Given the description of an element on the screen output the (x, y) to click on. 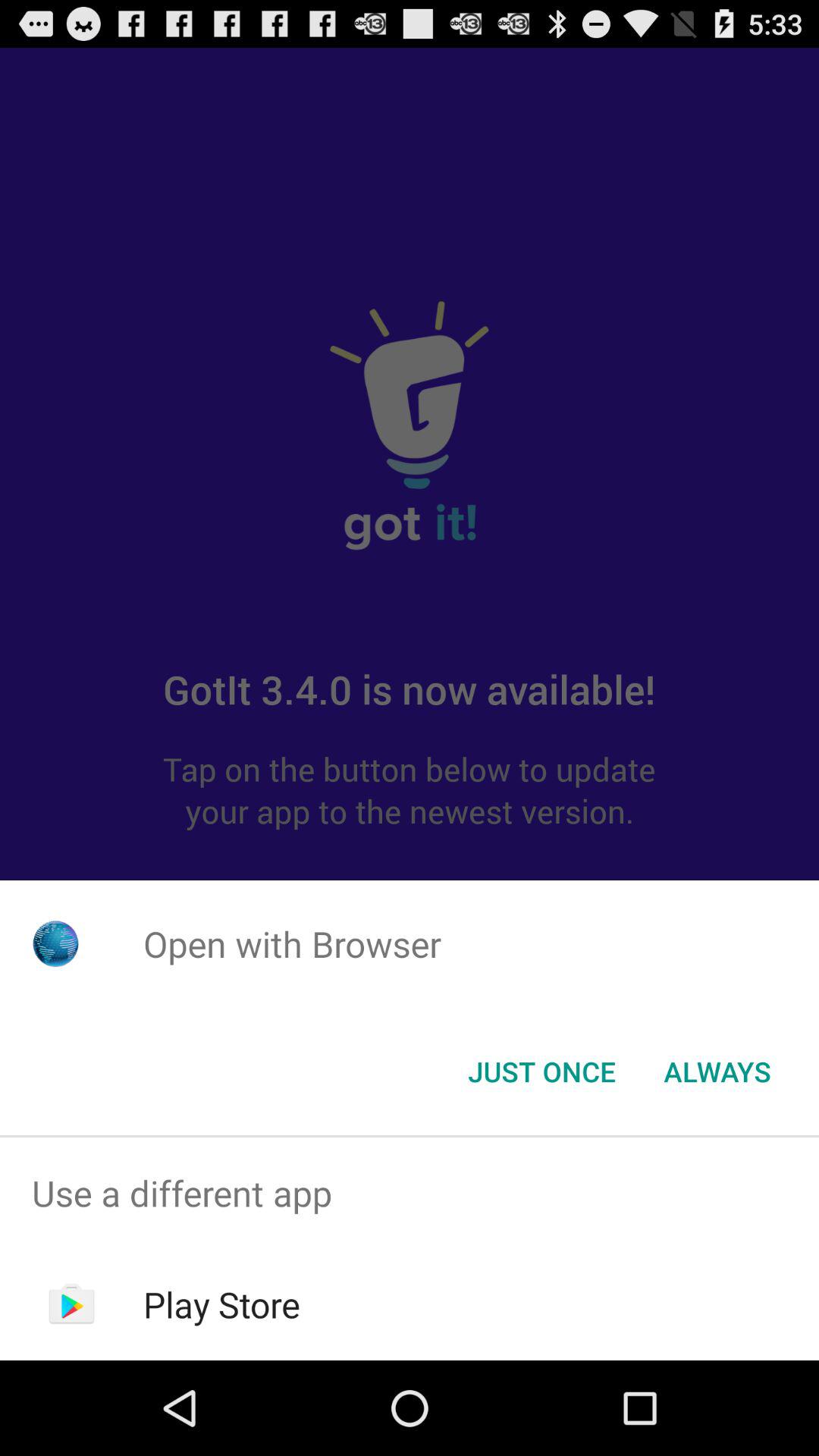
launch the icon below the use a different item (221, 1304)
